Given the description of an element on the screen output the (x, y) to click on. 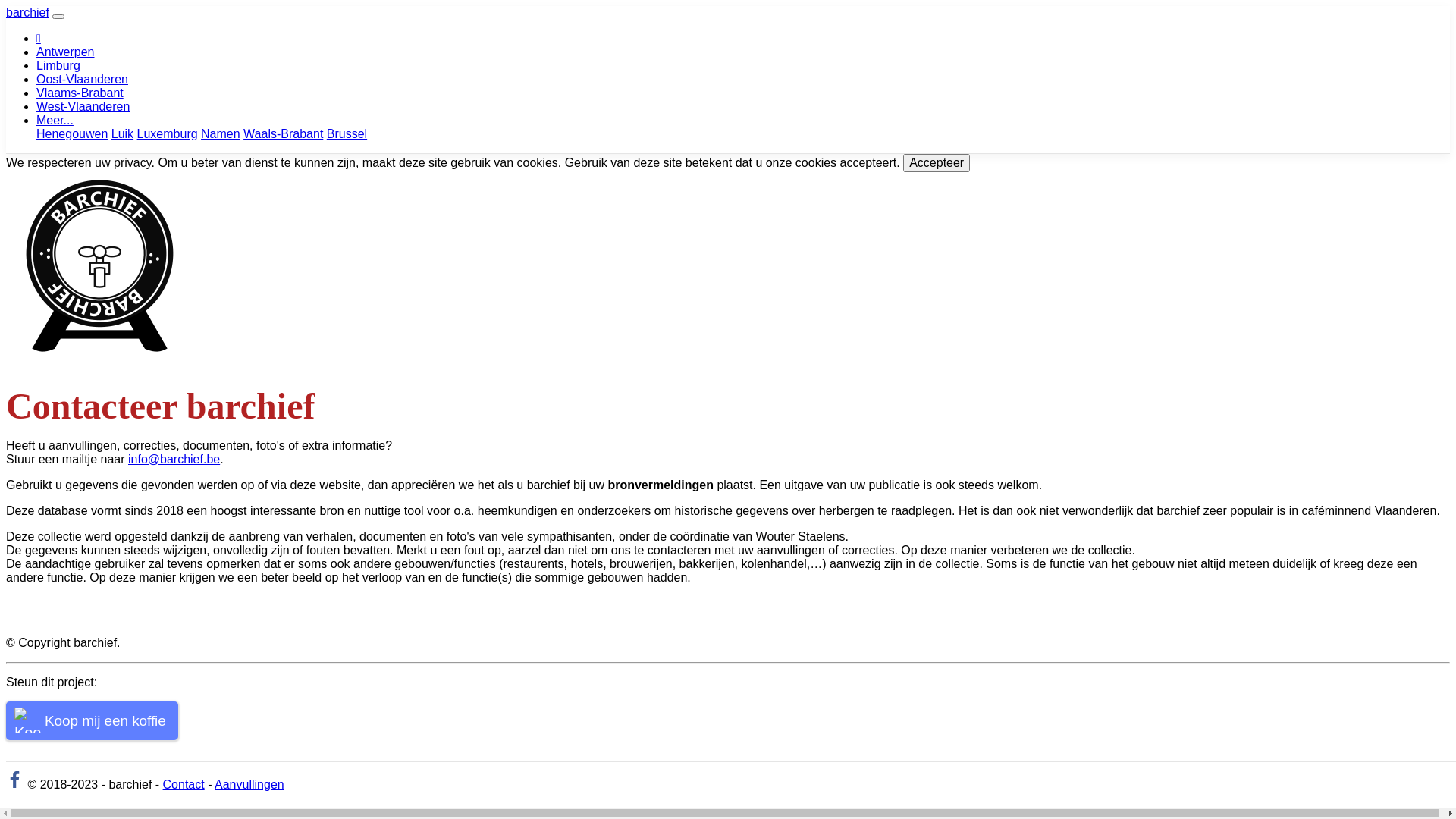
barchief Element type: text (27, 12)
Aanvullingen Element type: text (249, 784)
Luik Element type: text (122, 133)
West-Vlaanderen Element type: text (82, 106)
Limburg Element type: text (58, 65)
info@barchief.be Element type: text (173, 458)
Luxemburg Element type: text (167, 133)
Koop mij een koffie Element type: text (92, 720)
Antwerpen Element type: text (65, 51)
Vlaams-Brabant Element type: text (79, 92)
Oost-Vlaanderen Element type: text (82, 78)
Namen Element type: text (220, 133)
Accepteer Element type: text (936, 162)
Volg barchief op facebook Element type: hover (15, 784)
Meer... Element type: text (54, 119)
Waals-Brabant Element type: text (283, 133)
Contact Element type: text (183, 784)
Henegouwen Element type: text (71, 133)
Brussel Element type: text (346, 133)
